Given the description of an element on the screen output the (x, y) to click on. 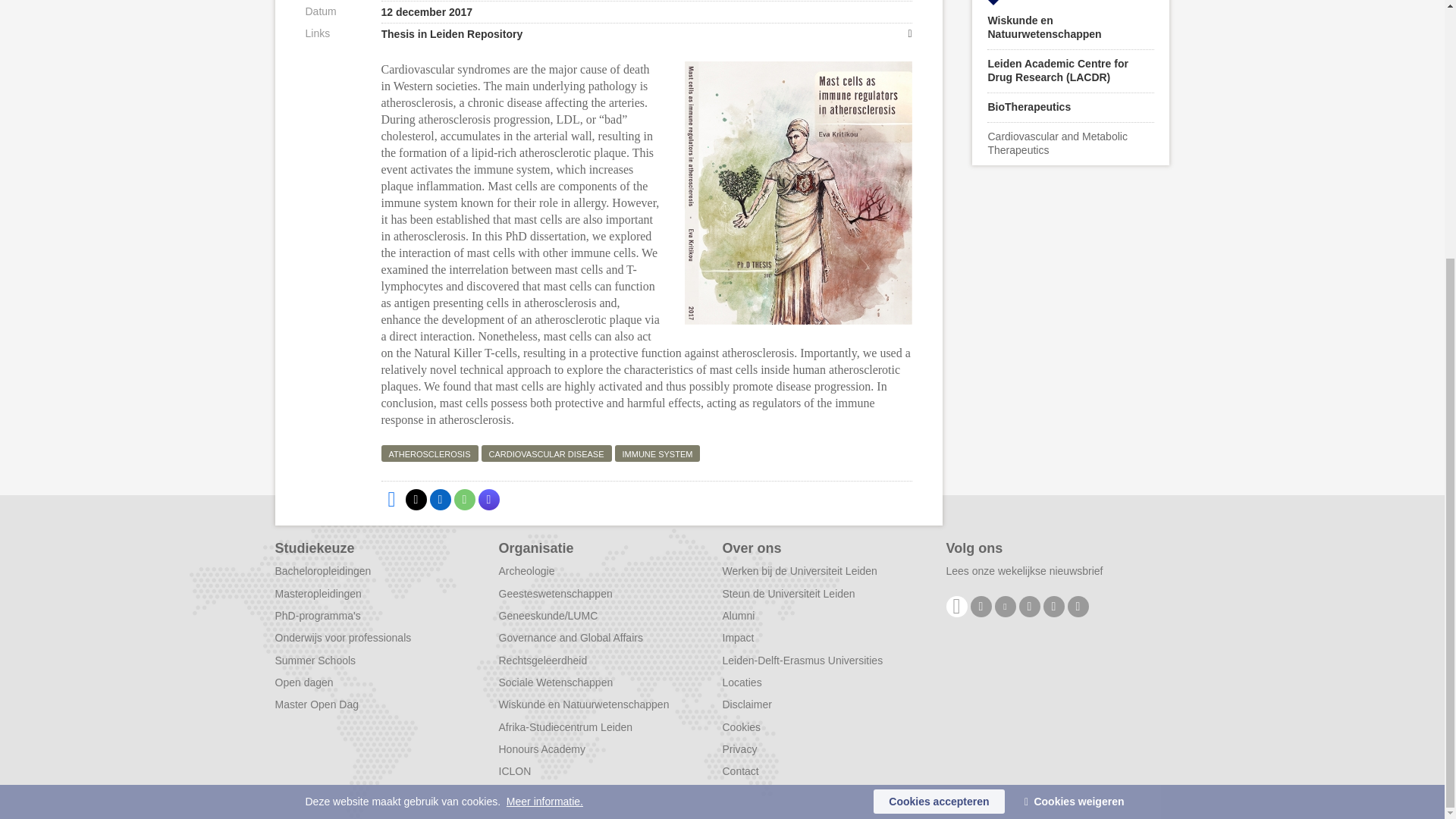
IMMUNE SYSTEM (657, 453)
Delen op LinkedIn (439, 499)
Delen op Facebook (390, 499)
CARDIOVASCULAR DISEASE (545, 453)
Delen via WhatsApp (463, 499)
Delen via Mastodon (488, 499)
Delen op X (415, 499)
Thesis in Leiden Repository (645, 33)
ATHEROSCLEROSIS (428, 453)
